Given the description of an element on the screen output the (x, y) to click on. 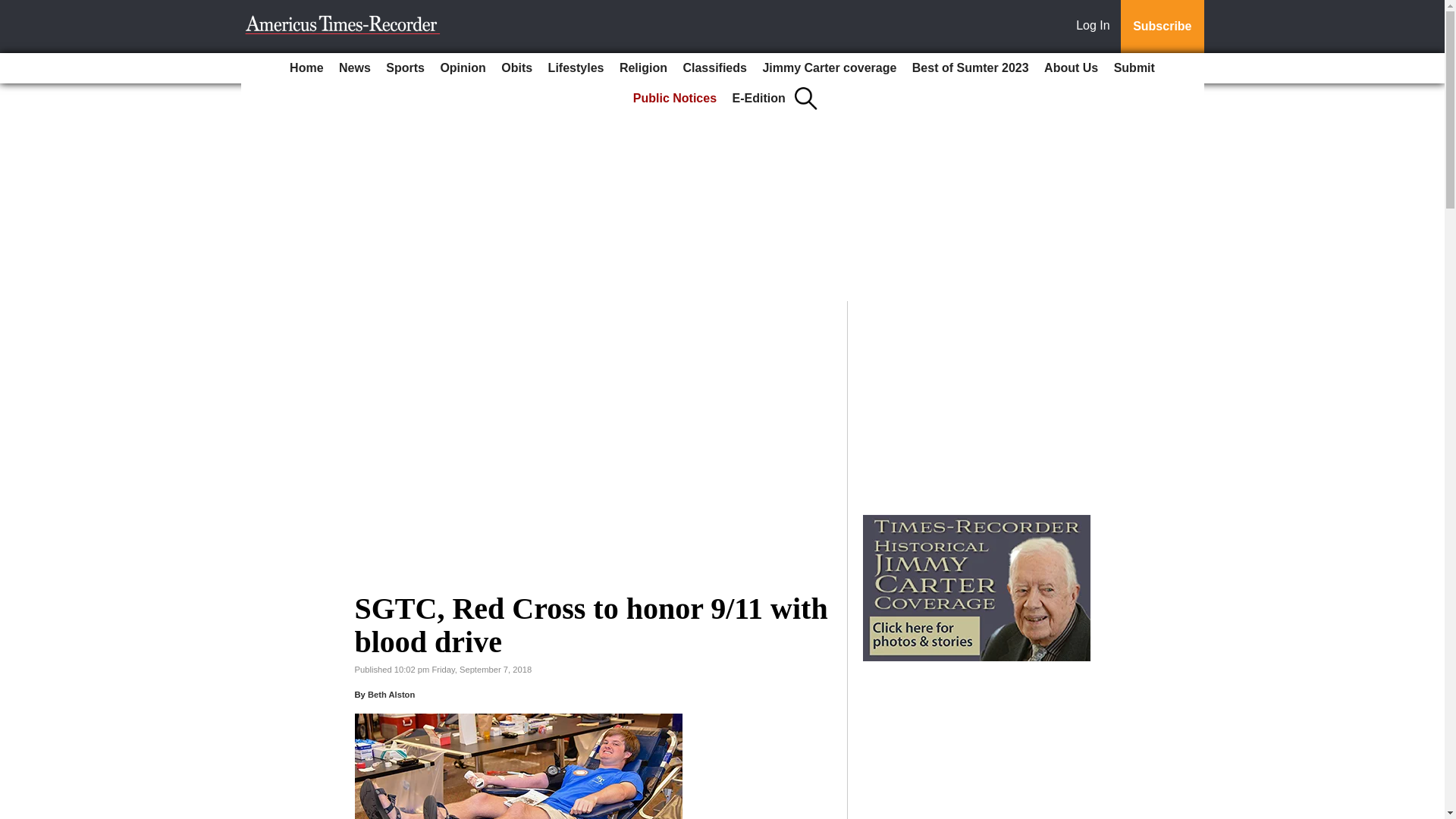
Best of Sumter 2023 (970, 68)
Obits (516, 68)
Go (13, 9)
Sports (405, 68)
Beth Alston (391, 694)
About Us (1070, 68)
Lifestyles (575, 68)
Opinion (462, 68)
News (355, 68)
Jimmy Carter coverage (828, 68)
Religion (642, 68)
Classifieds (714, 68)
Home (306, 68)
Subscribe (1162, 26)
E-Edition (759, 98)
